Given the description of an element on the screen output the (x, y) to click on. 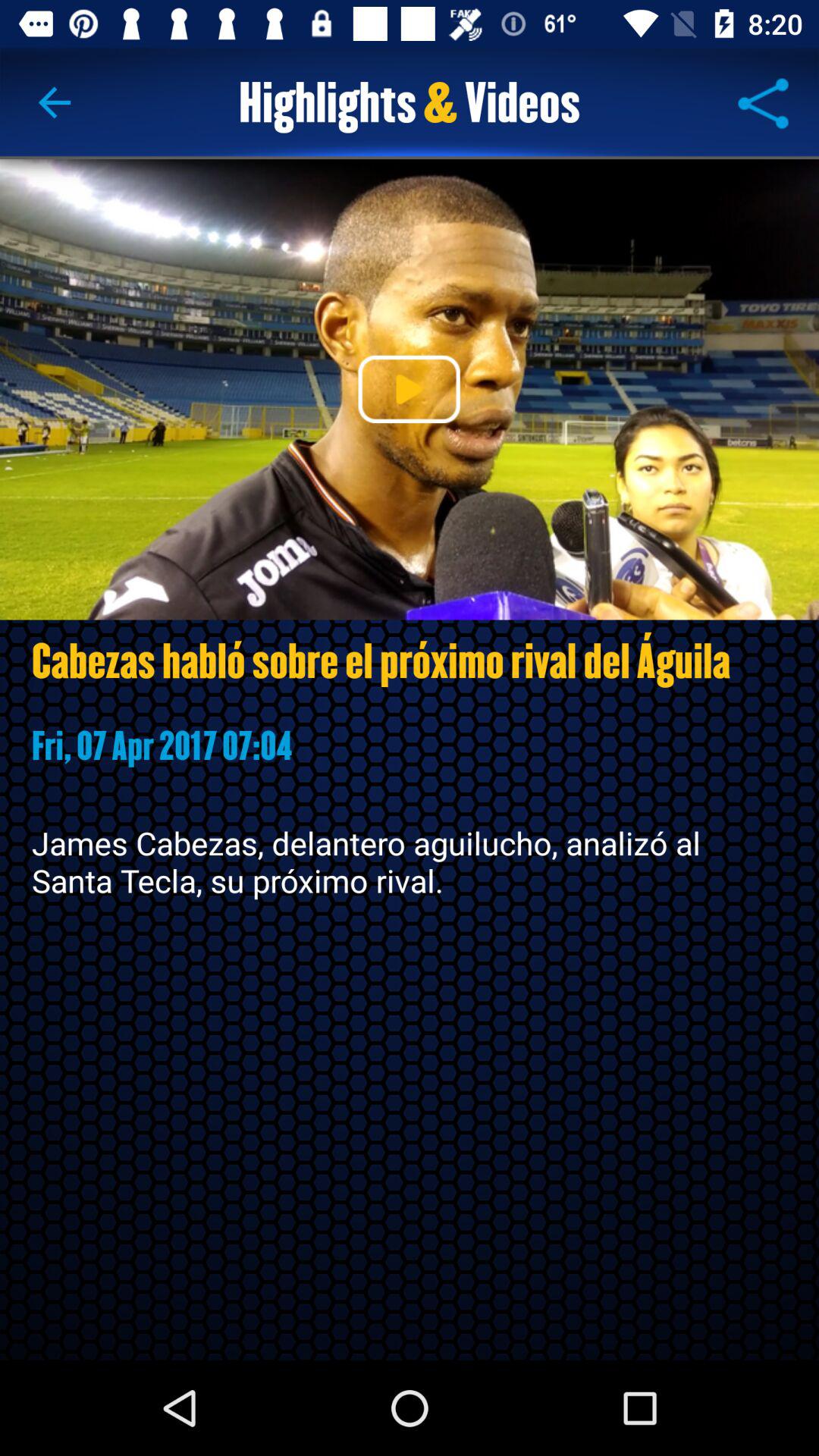
the button to play the video (409, 389)
